Given the description of an element on the screen output the (x, y) to click on. 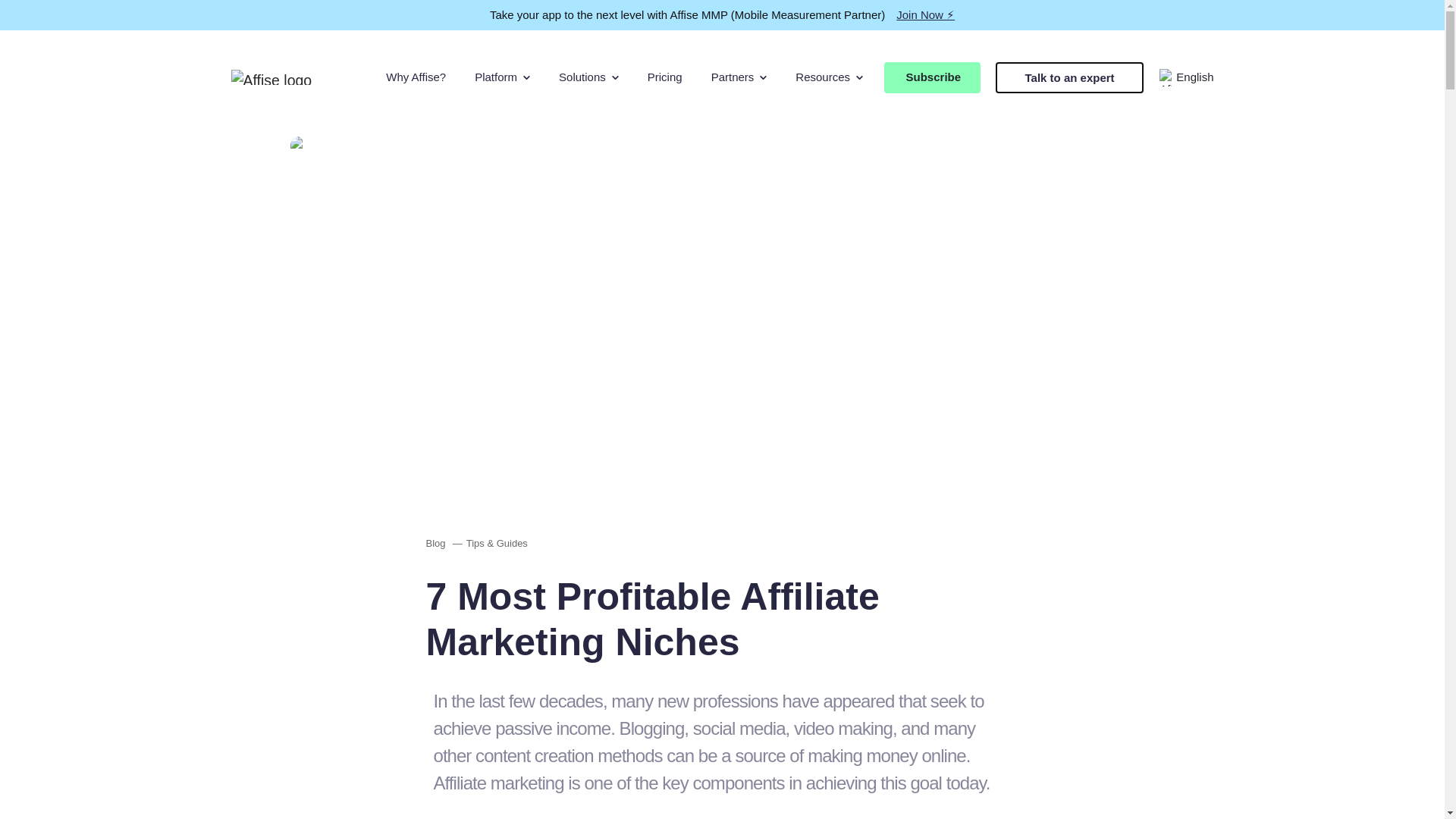
Go to Blog. (435, 542)
Platform (502, 77)
Solutions (588, 77)
Why Affise? (415, 77)
